Given the description of an element on the screen output the (x, y) to click on. 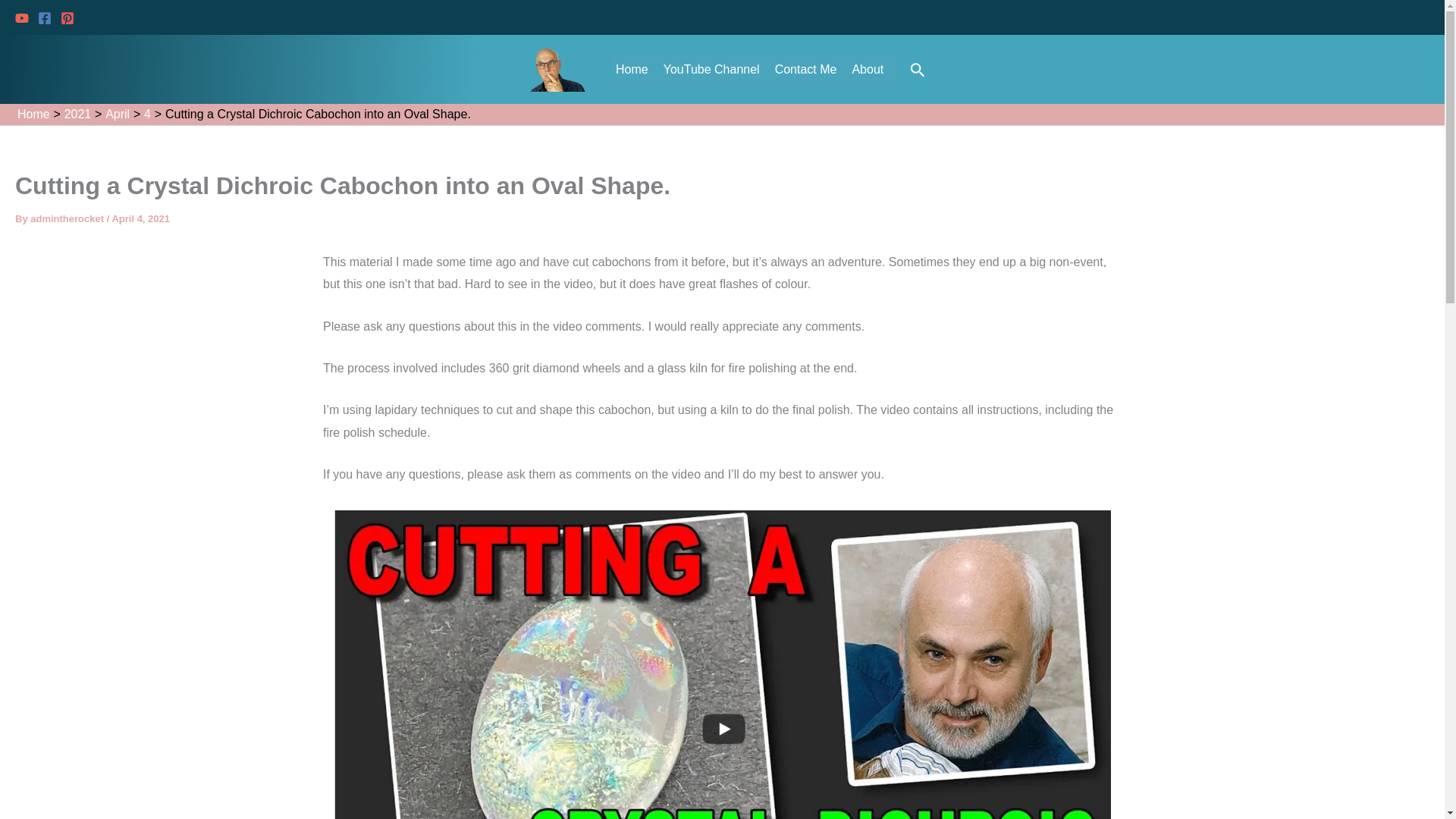
April (116, 113)
Contact Me (809, 69)
admintherocket (68, 218)
YouTube Channel (715, 69)
2021 (77, 113)
View all posts by admintherocket (68, 218)
Home (33, 113)
About (871, 69)
Home (635, 69)
